Given the description of an element on the screen output the (x, y) to click on. 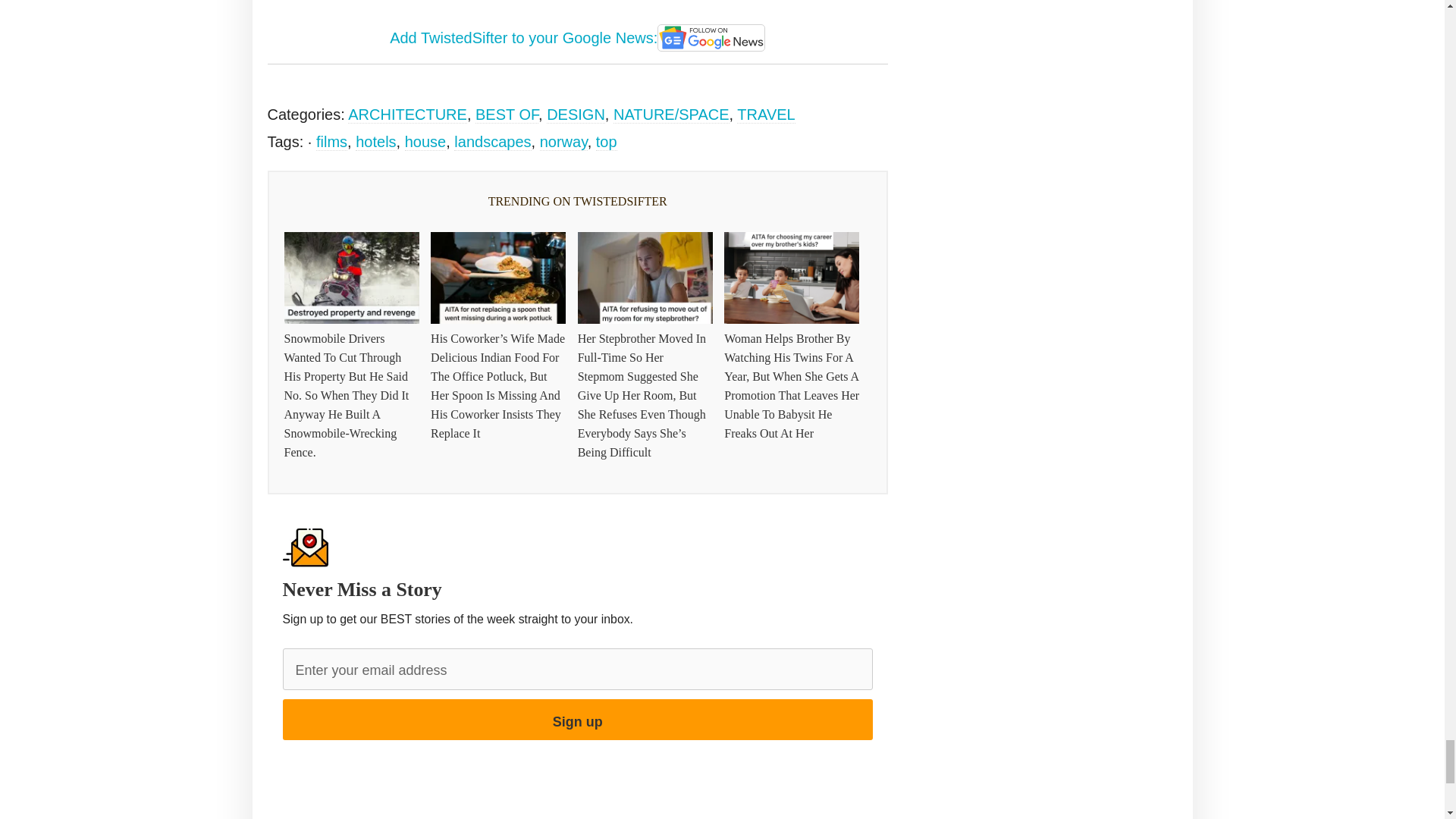
Sign up (577, 719)
